Given the description of an element on the screen output the (x, y) to click on. 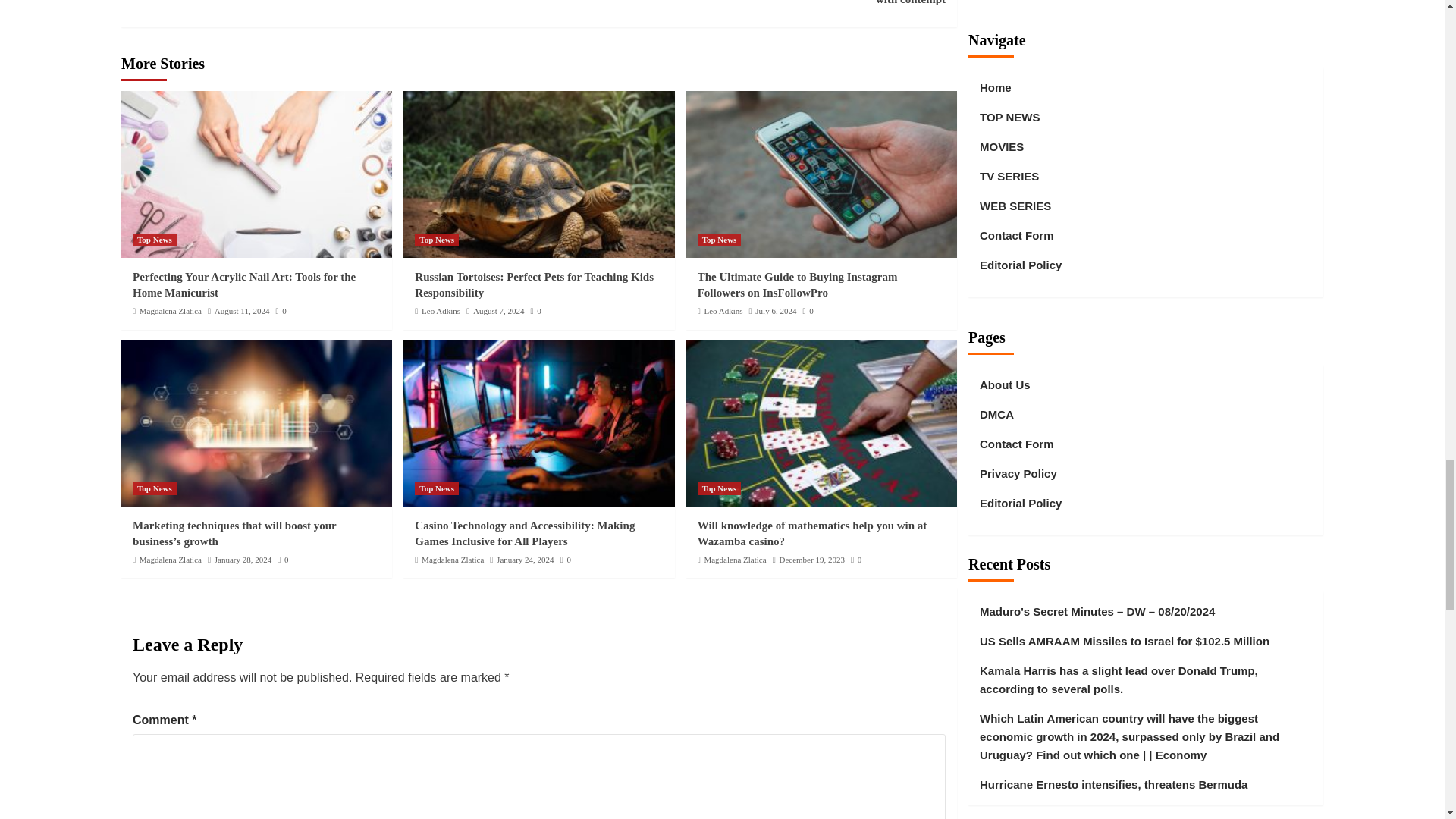
August 11, 2024 (241, 310)
Magdalena Zlatica (170, 310)
Top News (154, 239)
0 (280, 310)
